Given the description of an element on the screen output the (x, y) to click on. 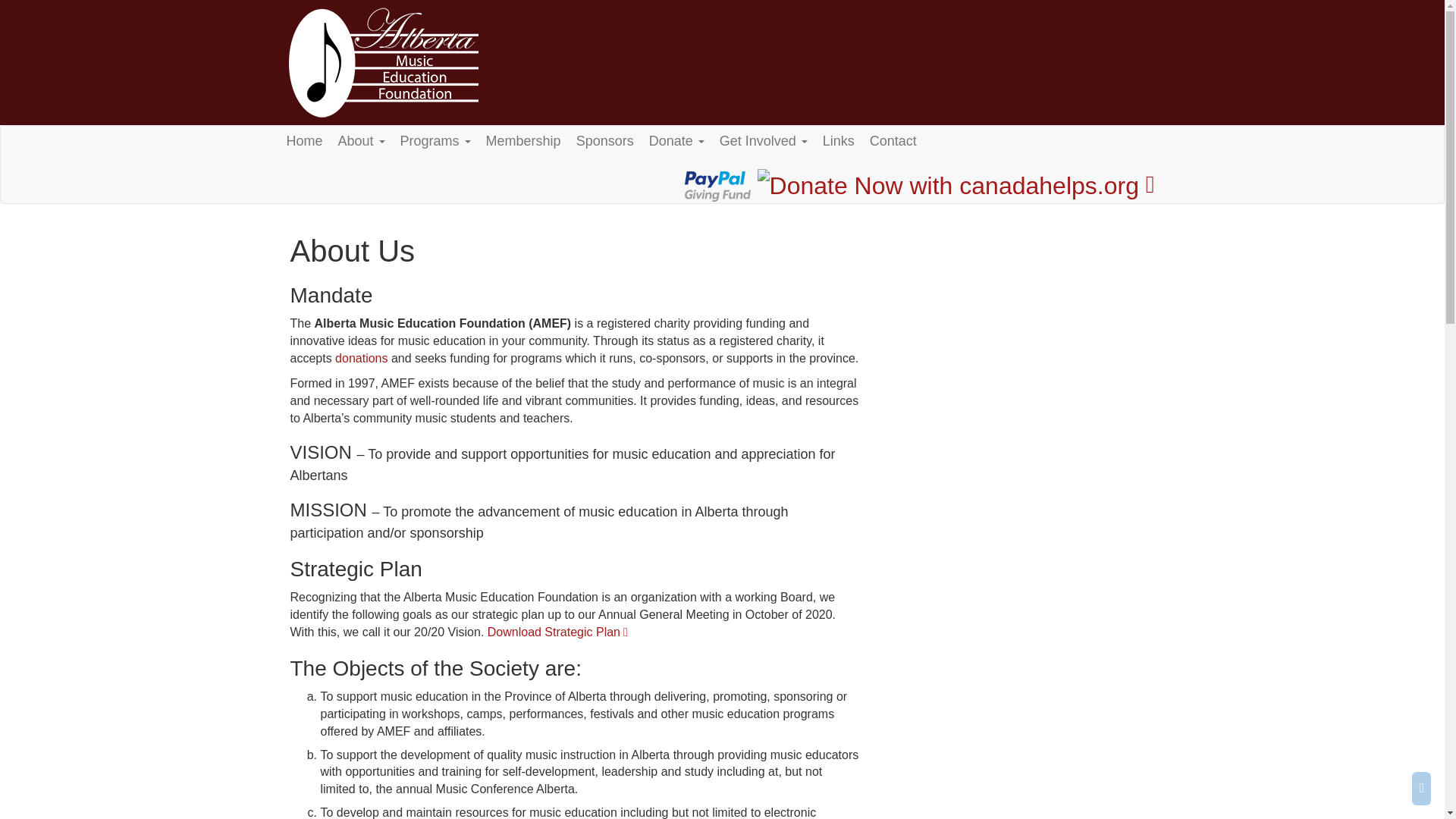
Sponsors (605, 141)
Contact (892, 141)
Donate (676, 141)
Home (304, 144)
Membership (524, 141)
Donate Now with canadahelps.org (947, 185)
Links (838, 141)
Get Involved (763, 141)
Programs (436, 141)
About (361, 141)
Download Strategic Plan (557, 631)
donations (360, 358)
Donate with PayPal Giving Fund (717, 186)
